Given the description of an element on the screen output the (x, y) to click on. 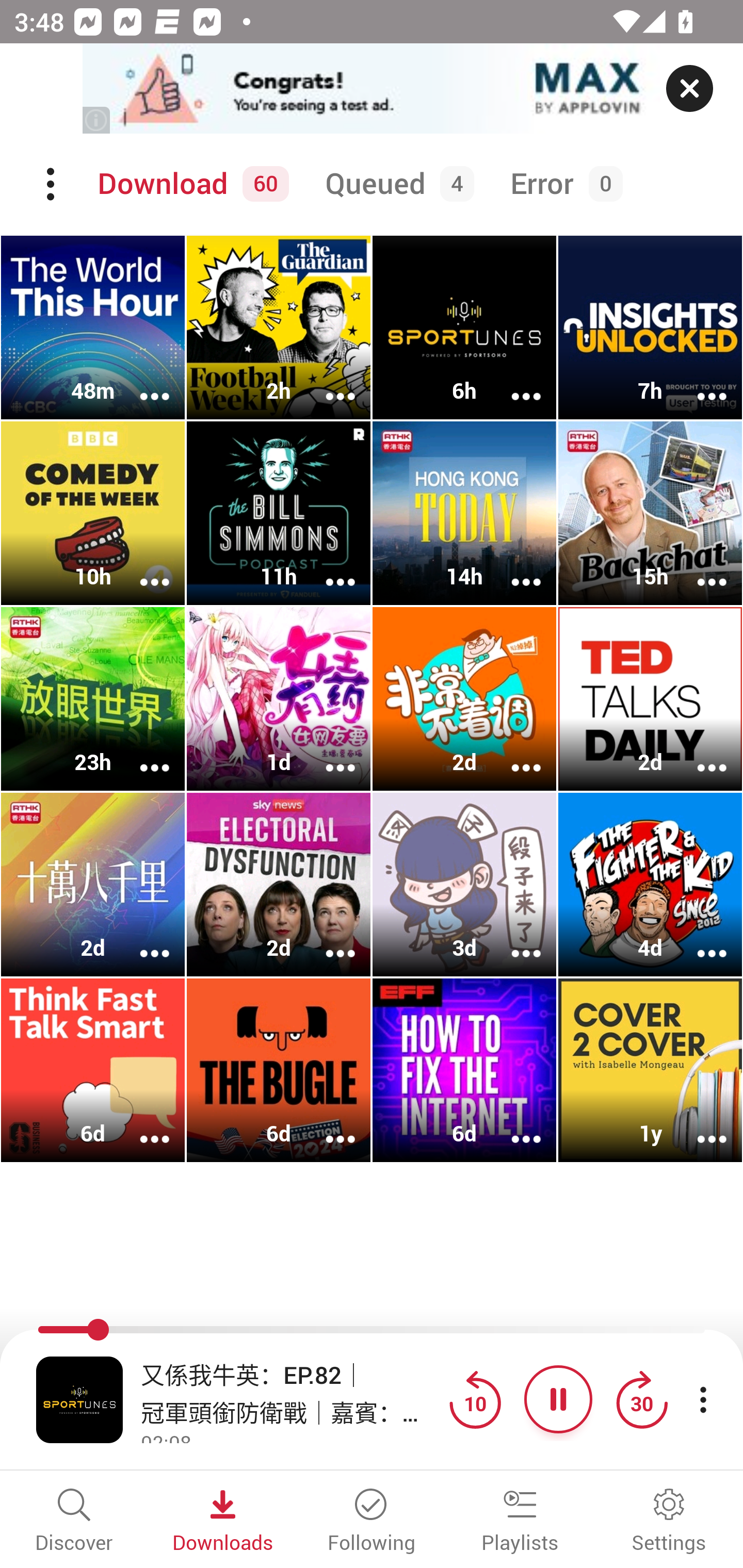
app-monetization (371, 88)
(i) (96, 119)
Menu (52, 184)
 Download 60 (189, 184)
 Queued 4 (396, 184)
 Error 0 (562, 184)
The World This Hour 48m More options More options (92, 327)
Football Weekly 2h More options More options (278, 327)
Sportunes HK 6h More options More options (464, 327)
Insights Unlocked 7h More options More options (650, 327)
More options (141, 382)
More options (326, 382)
More options (512, 382)
More options (698, 382)
Comedy of the Week 10h More options More options (92, 513)
Hong Kong Today 14h More options More options (464, 513)
Backchat 15h More options More options (650, 513)
More options (141, 569)
More options (326, 569)
More options (512, 569)
More options (698, 569)
放眼世界 23h More options More options (92, 698)
女王有药丨爆笑脱口秀 1d More options More options (278, 698)
非常不着调 2d More options More options (464, 698)
TED Talks Daily 2d More options More options (650, 698)
More options (141, 754)
More options (326, 754)
More options (512, 754)
More options (698, 754)
十萬八千里 2d More options More options (92, 883)
Electoral Dysfunction 2d More options More options (278, 883)
段子来了 3d More options More options (464, 883)
The Fighter & The Kid 4d More options More options (650, 883)
More options (141, 940)
More options (326, 940)
More options (512, 940)
More options (698, 940)
The Bugle 6d More options More options (278, 1069)
Cover 2 Cover 1y More options More options (650, 1069)
More options (141, 1125)
More options (326, 1125)
More options (512, 1125)
More options (698, 1125)
Open fullscreen player (79, 1399)
又係我牛英：EP.82｜冠軍頭銜防衛戰｜嘉賓：五連勝拳后 楊曉茹 (290, 1392)
More player controls (703, 1399)
Pause button (558, 1398)
Jump back (475, 1399)
Jump forward (641, 1399)
Discover (74, 1521)
Downloads (222, 1521)
Following (371, 1521)
Playlists (519, 1521)
Settings (668, 1521)
